Given the description of an element on the screen output the (x, y) to click on. 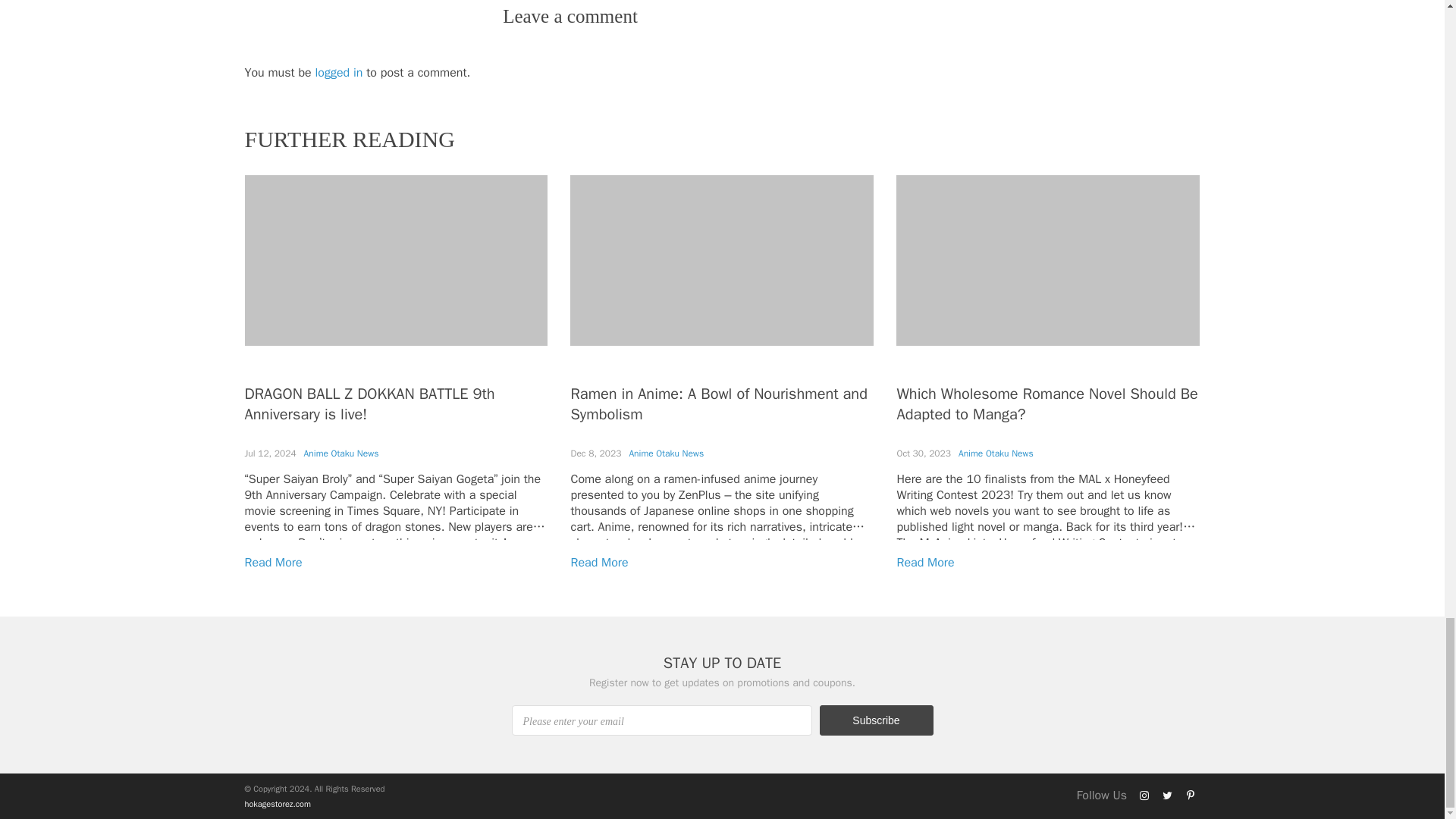
Anime Otaku News (665, 453)
Read More (924, 562)
Which Wholesome Romance Novel Should Be Adapted to Manga? (1046, 404)
Read More (598, 562)
Read More (272, 562)
Subscribe (875, 720)
logged in (338, 72)
DRAGON BALL Z DOKKAN BATTLE 9th Anniversary is live! (369, 404)
Ramen in Anime: A Bowl of Nourishment and Symbolism (718, 404)
Anime Otaku News (341, 453)
hokagestorez.com (277, 803)
Anime Otaku News (995, 453)
